Given the description of an element on the screen output the (x, y) to click on. 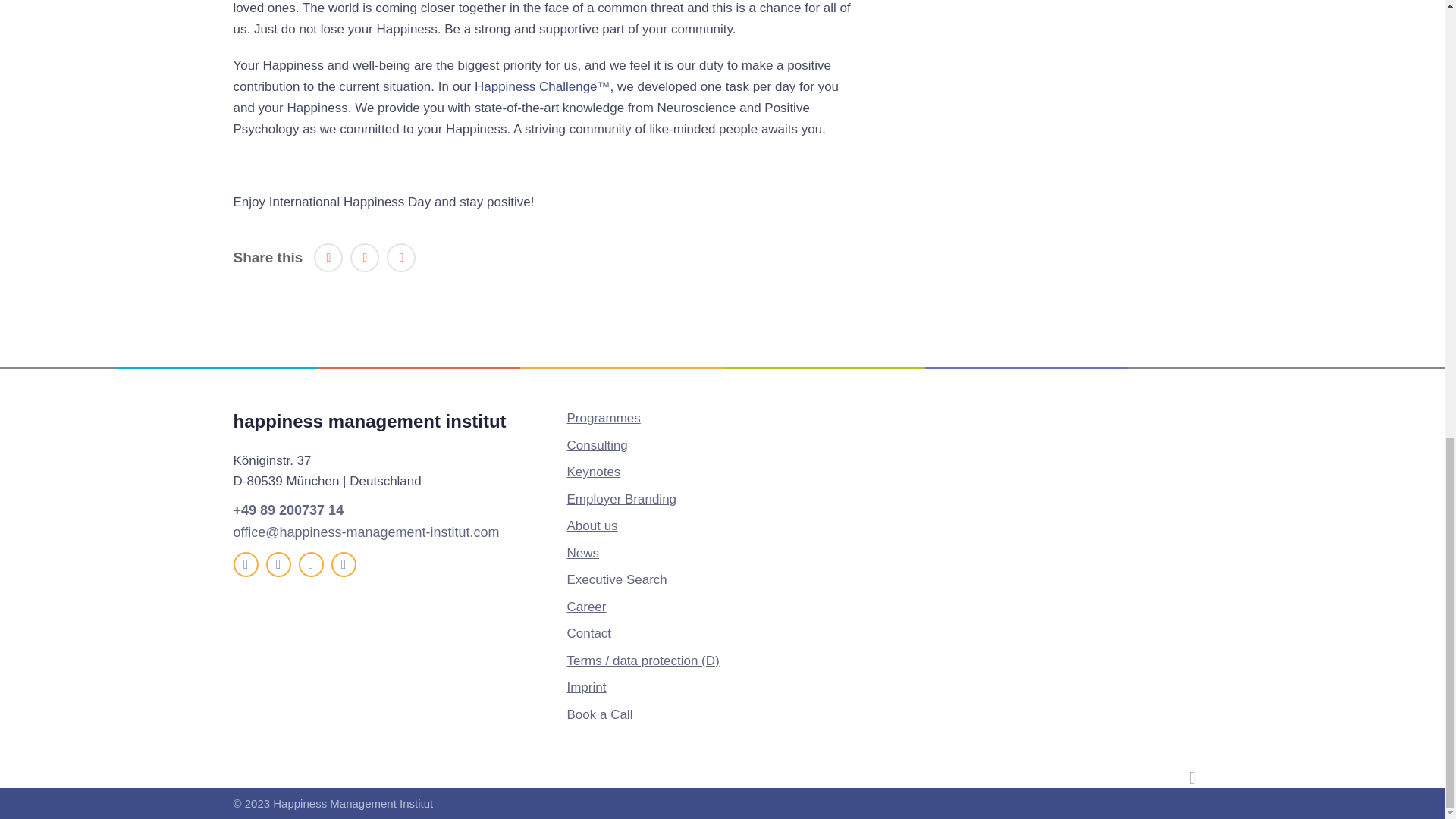
Employer Branding (621, 499)
Book a Call (598, 714)
Programmes (603, 417)
Facebook (400, 257)
LinkedIn (310, 564)
LinkedIn (328, 257)
About us (591, 525)
Twitter (276, 564)
Twitter (364, 257)
XING (342, 564)
Executive Search (616, 579)
Contact (588, 633)
Consulting (596, 445)
Keynotes (593, 472)
News (582, 553)
